Given the description of an element on the screen output the (x, y) to click on. 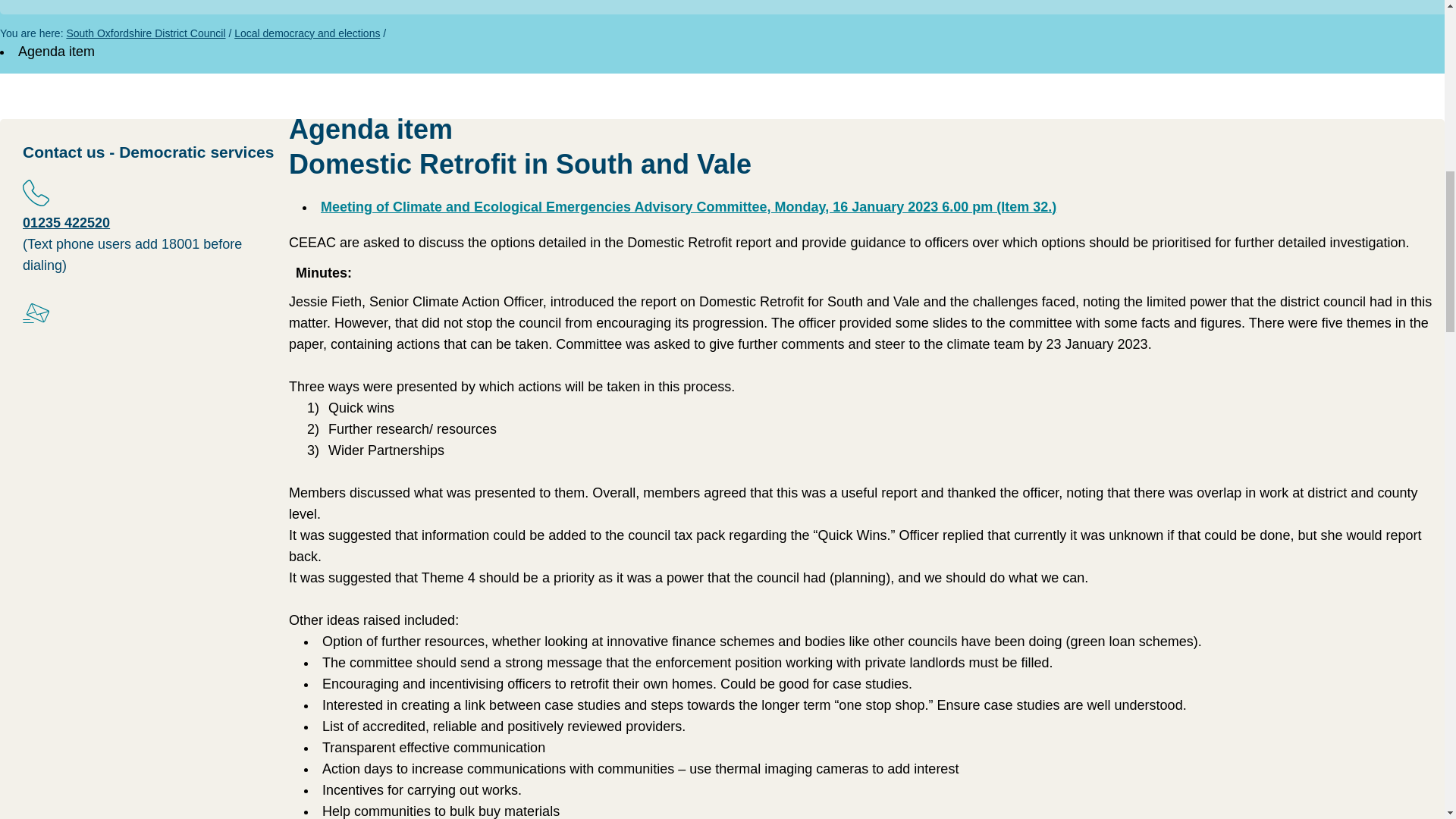
01235 422520 (66, 222)
Call 01235 422520 (66, 222)
South Oxfordshire District Council (145, 33)
Local democracy and elections (307, 33)
Link to meeting containing this item (688, 206)
